Given the description of an element on the screen output the (x, y) to click on. 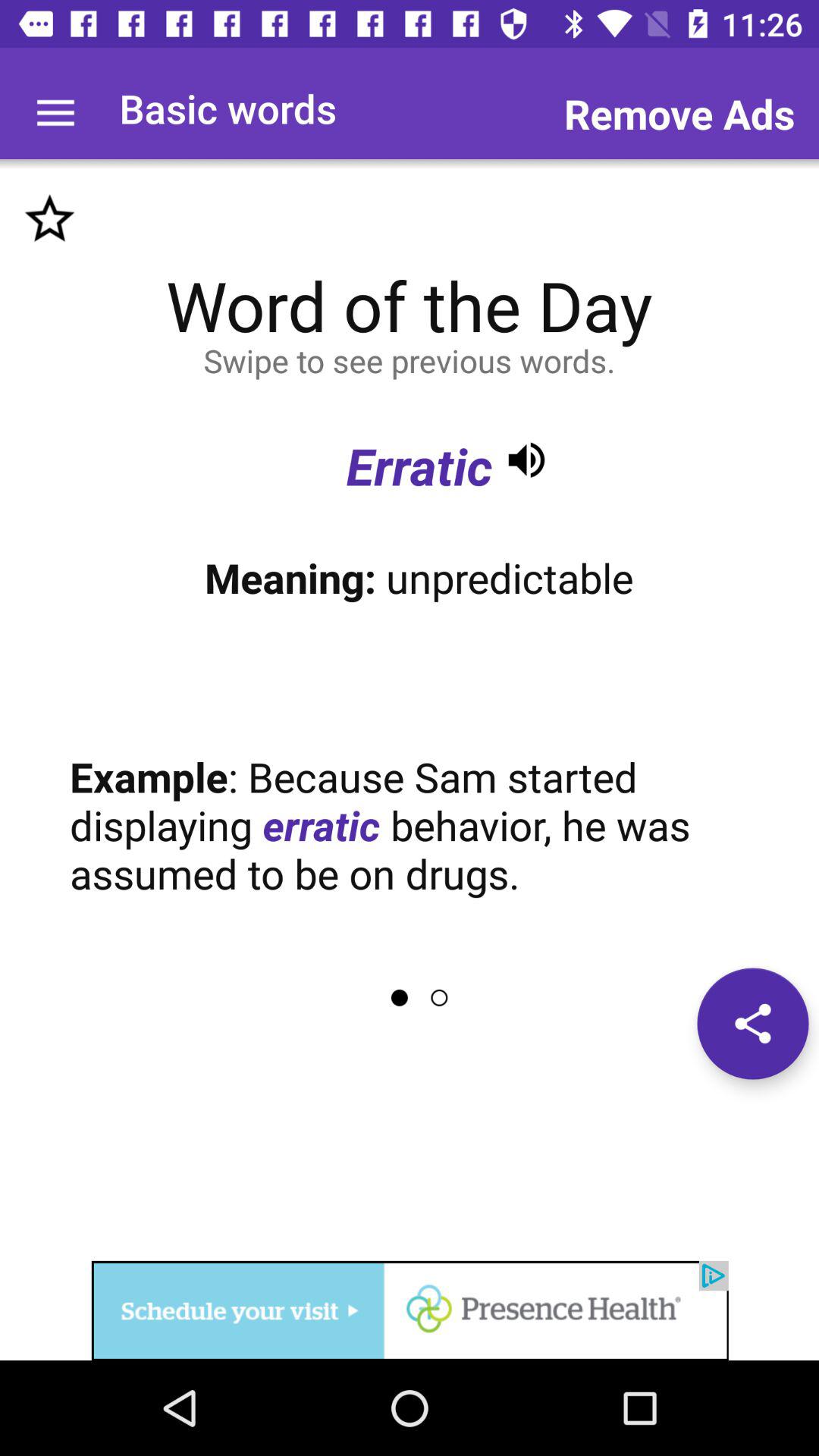
visit advertised website (409, 1310)
